Given the description of an element on the screen output the (x, y) to click on. 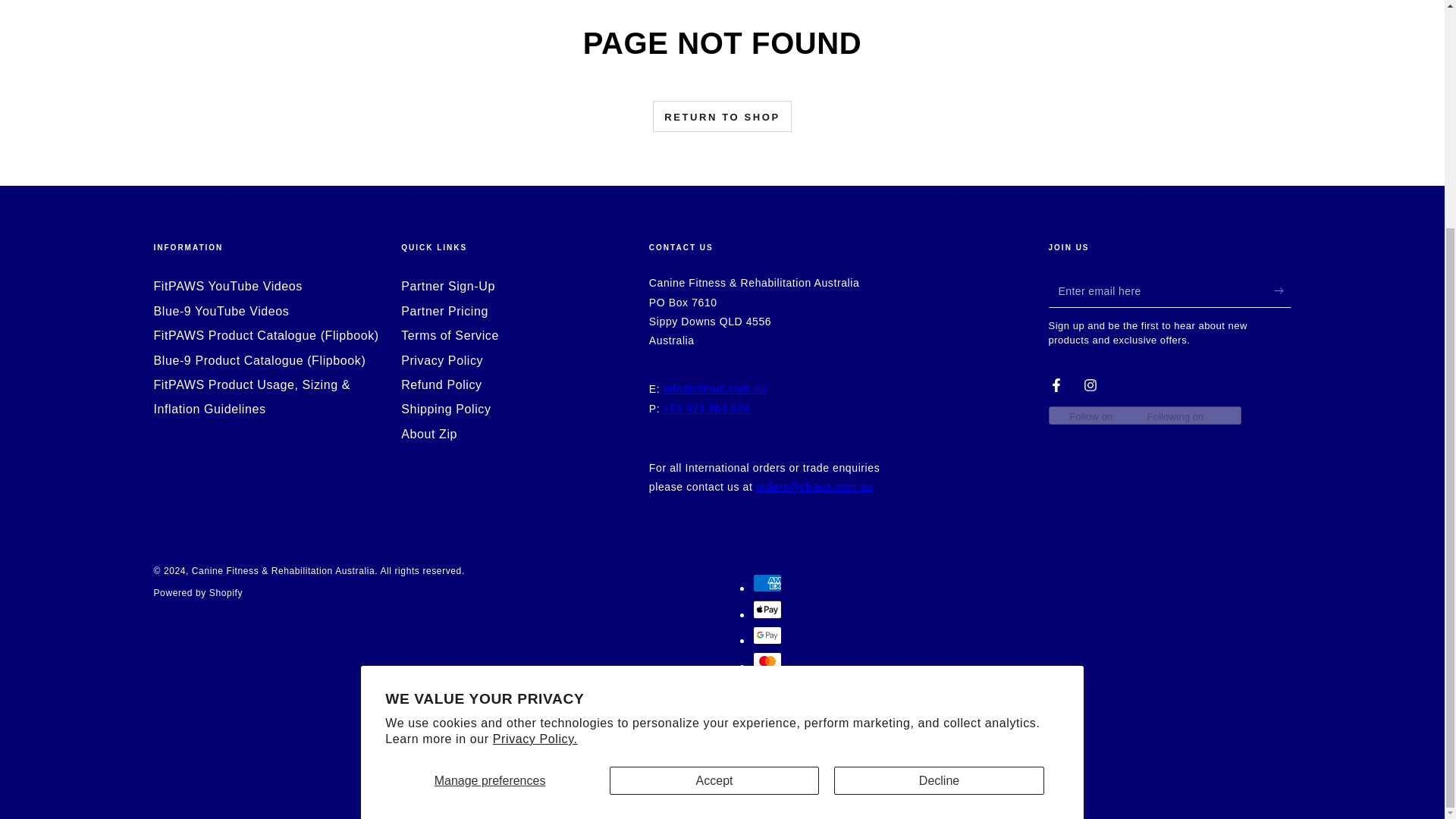
Manage preferences (489, 473)
Accept (714, 473)
Apple Pay (766, 609)
Union Pay (766, 740)
Google Pay (766, 635)
PayPal (766, 687)
Shop Pay (766, 713)
Decline (938, 473)
Privacy Policy. (535, 431)
American Express (766, 583)
